Given the description of an element on the screen output the (x, y) to click on. 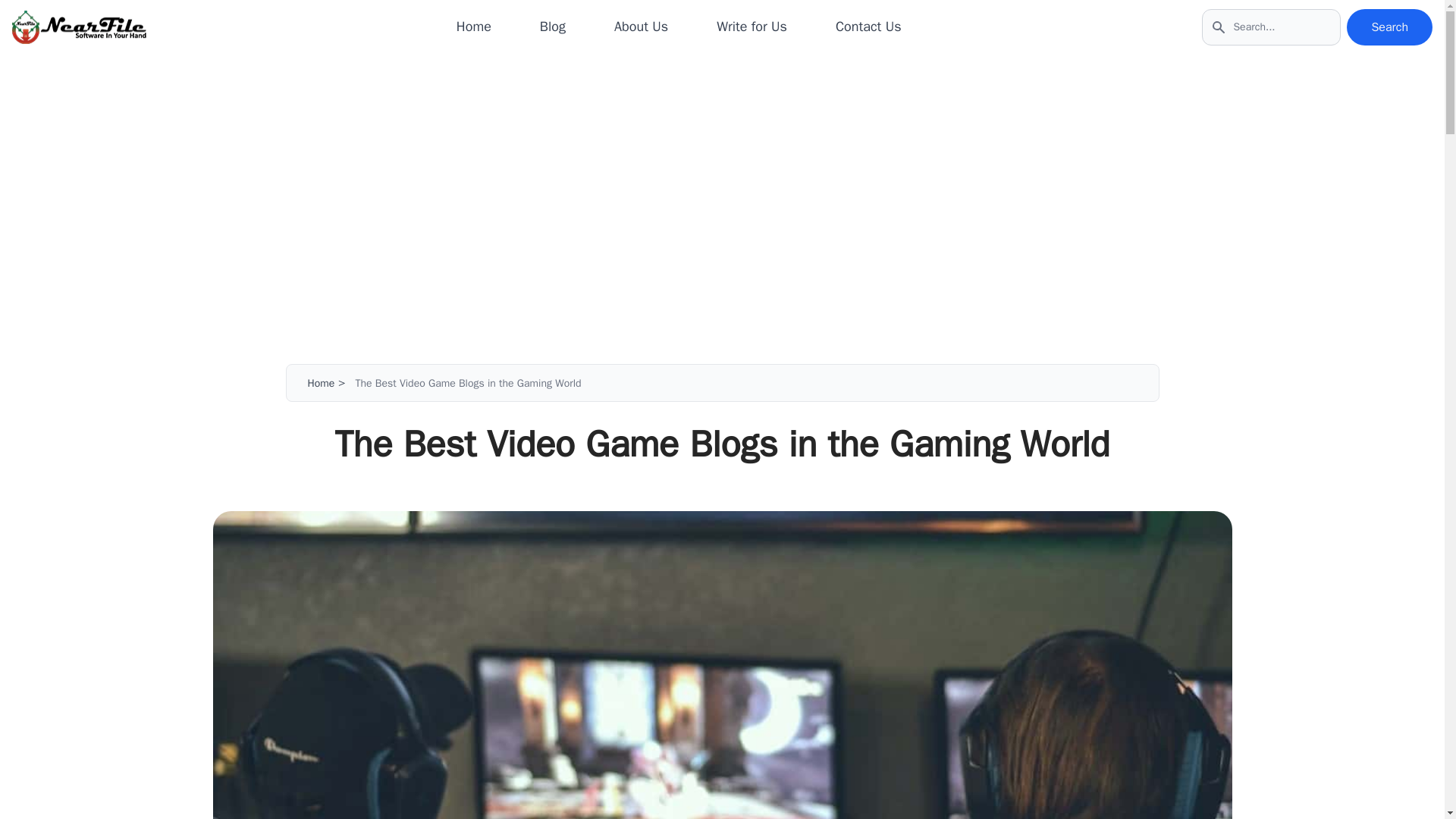
Blog (553, 26)
Home (320, 382)
About Us (641, 26)
Home (474, 26)
Write for Us (751, 26)
Contact Us (868, 26)
Search (1389, 27)
